Given the description of an element on the screen output the (x, y) to click on. 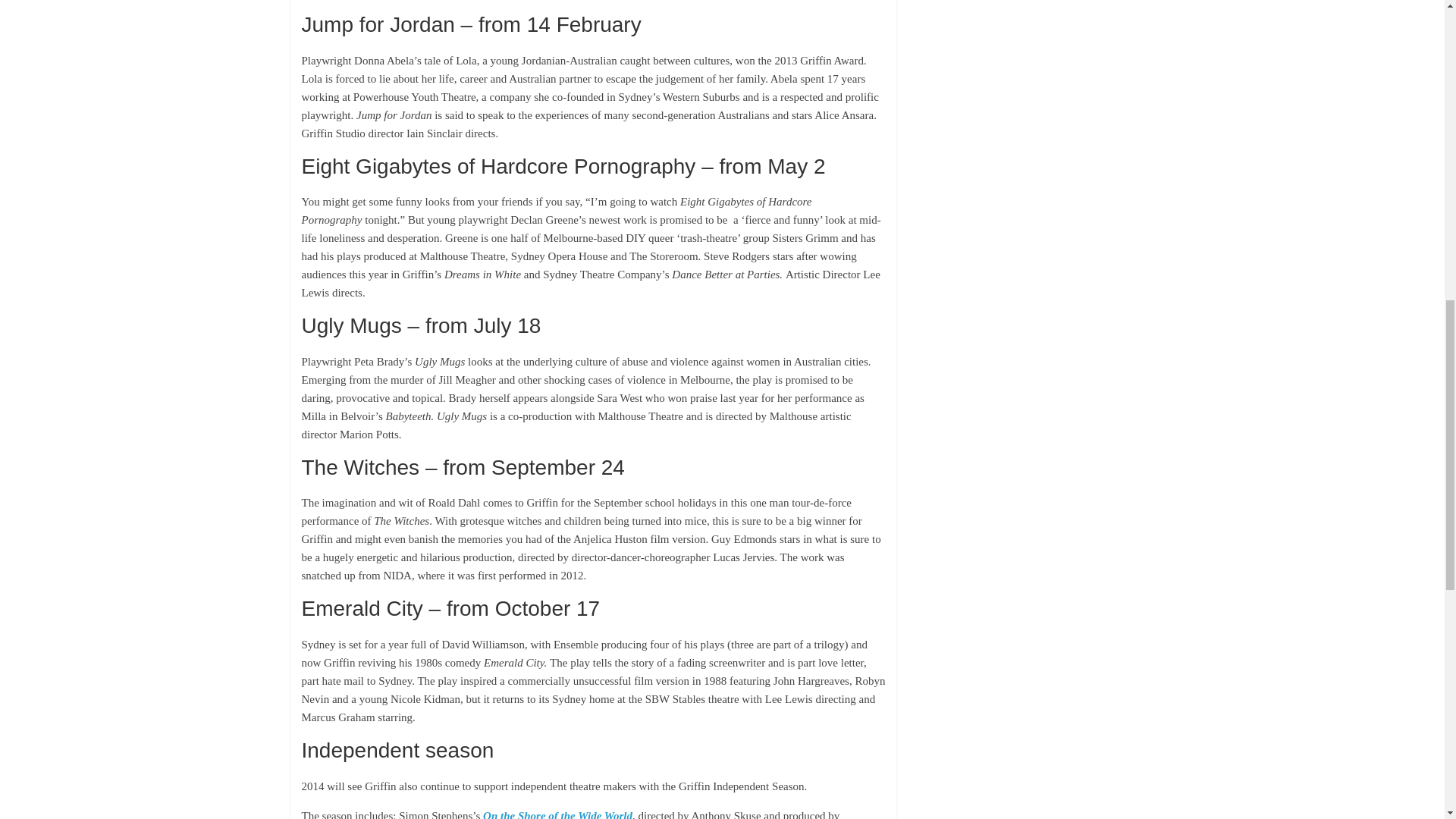
On the Shore of the Wide World (557, 814)
